Given the description of an element on the screen output the (x, y) to click on. 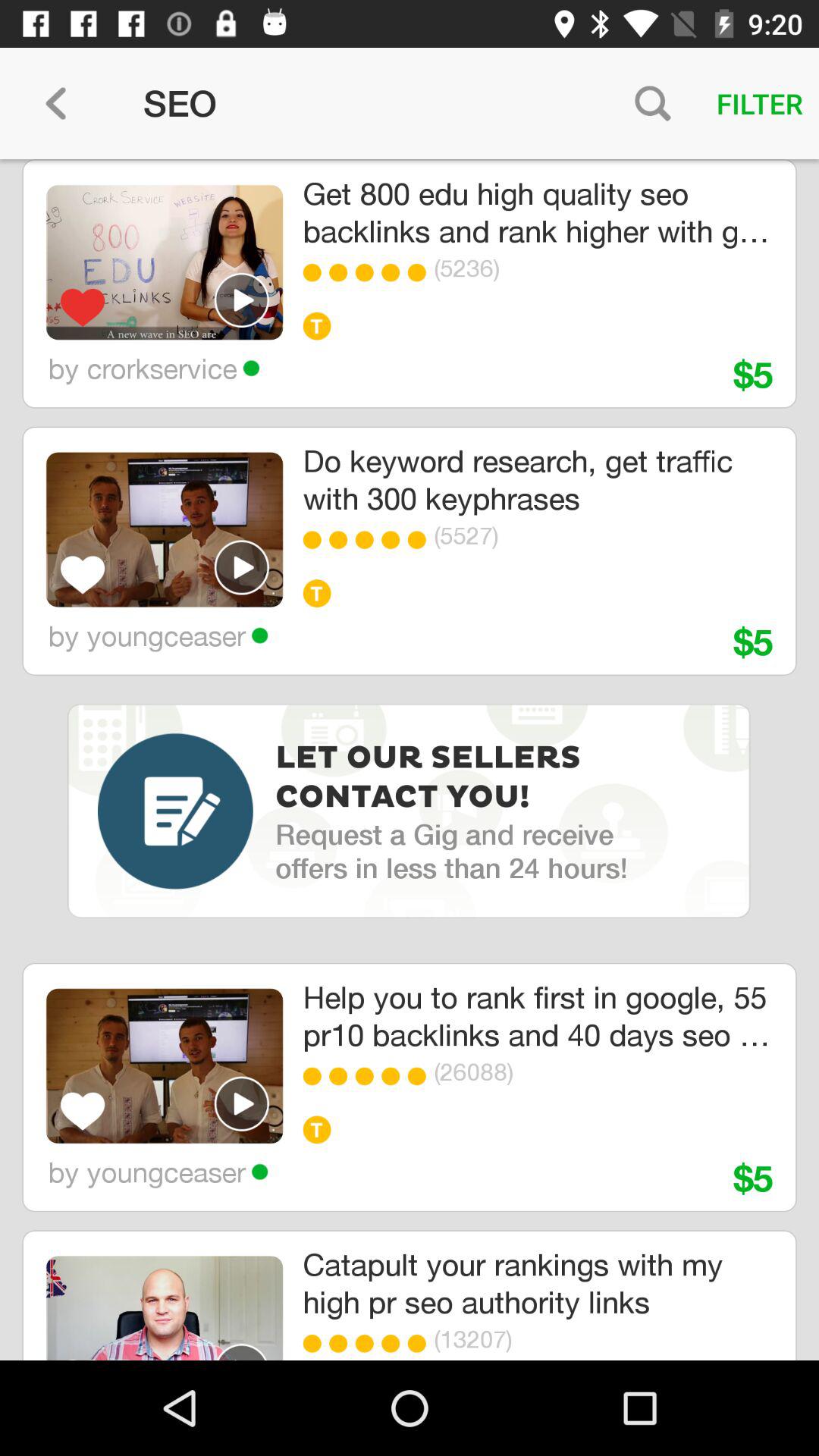
scroll to the do keyword research (537, 479)
